Given the description of an element on the screen output the (x, y) to click on. 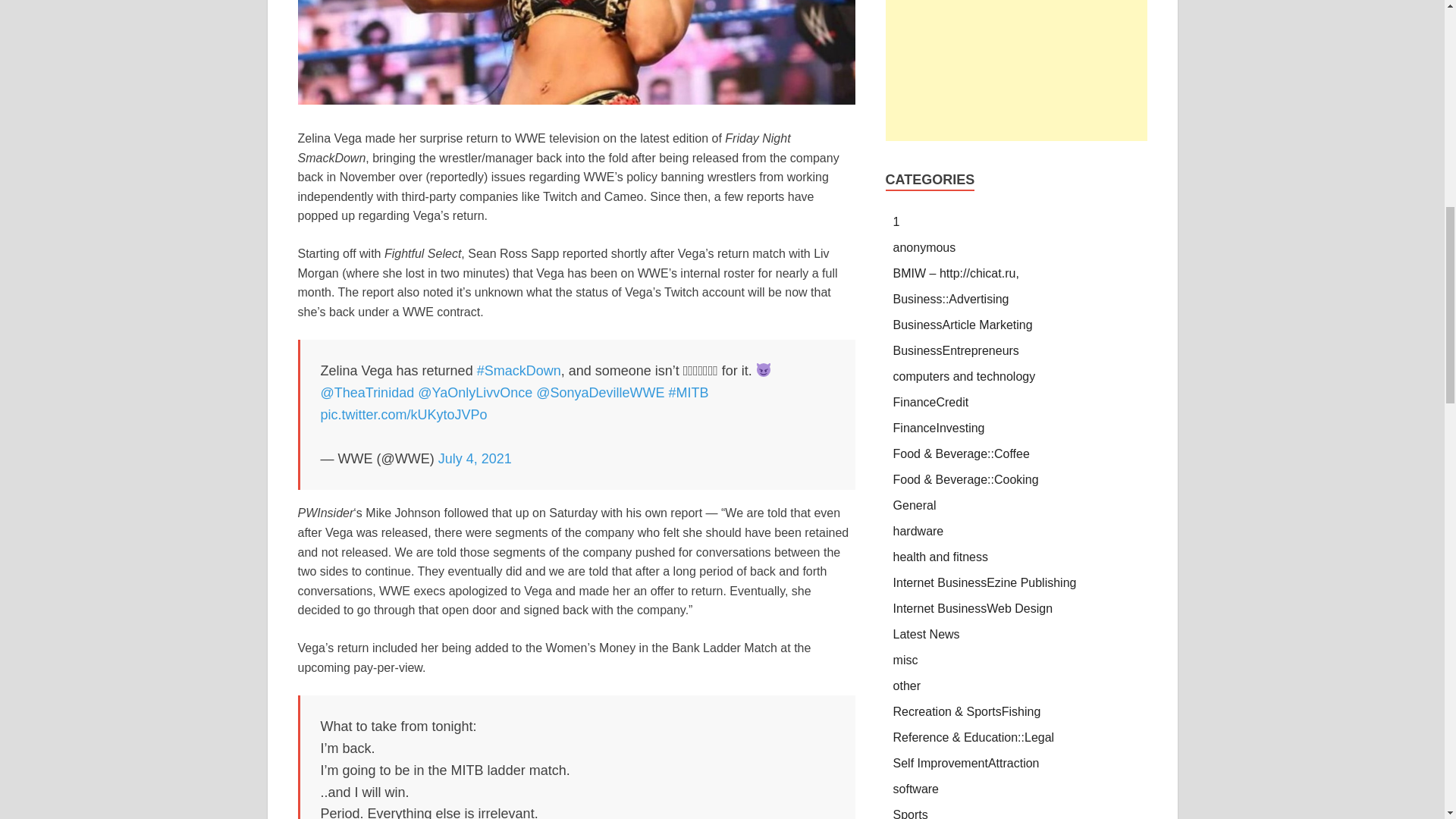
July 4, 2021 (475, 458)
Advertisement (1016, 70)
